Given the description of an element on the screen output the (x, y) to click on. 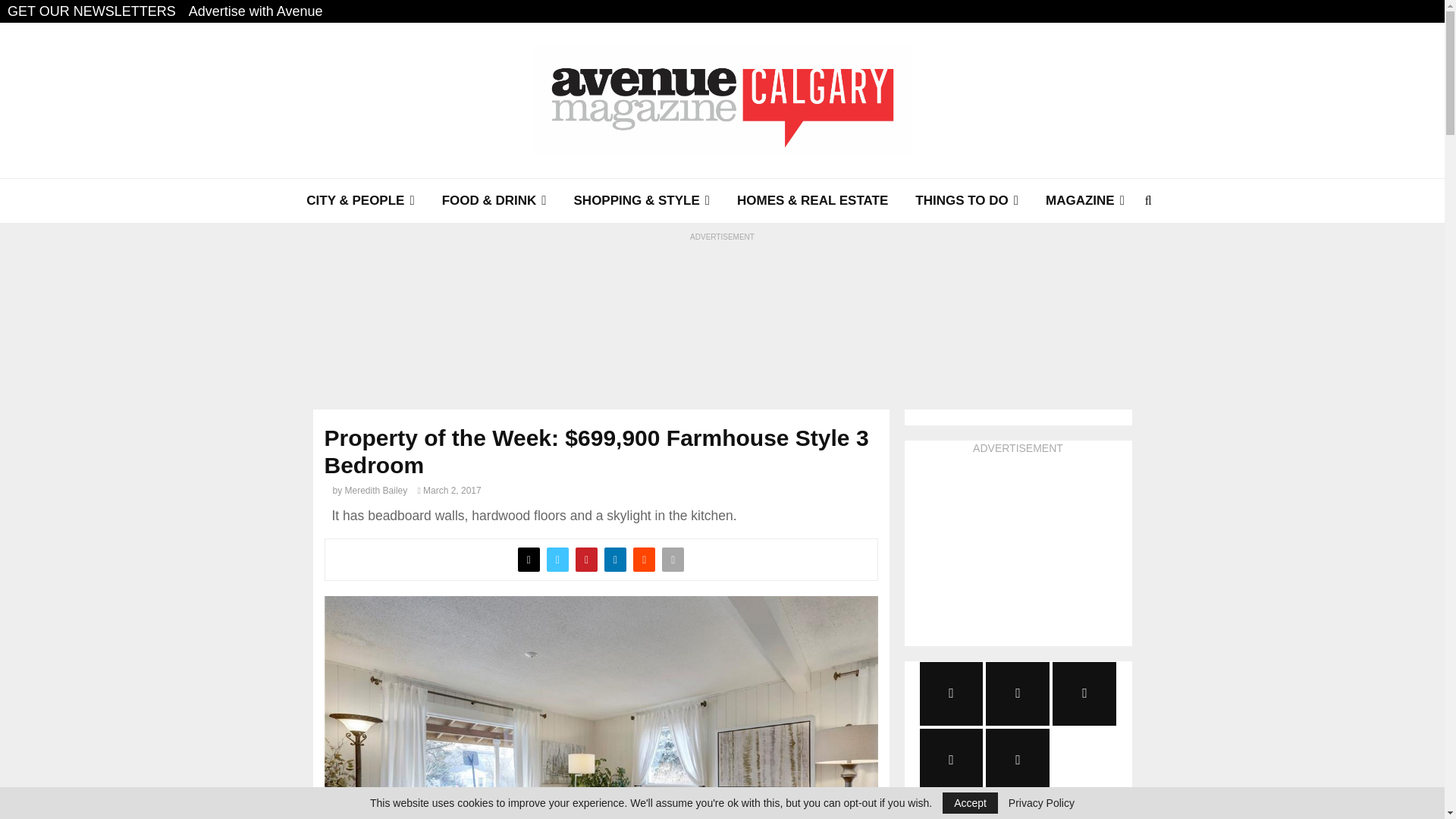
GET OUR NEWSLETTERS (91, 11)
3rd party ad content (1017, 551)
3rd party ad content (722, 310)
THINGS TO DO (966, 200)
MAGAZINE (1085, 200)
Meredith Bailey (376, 490)
Advertise with Avenue (256, 11)
